Given the description of an element on the screen output the (x, y) to click on. 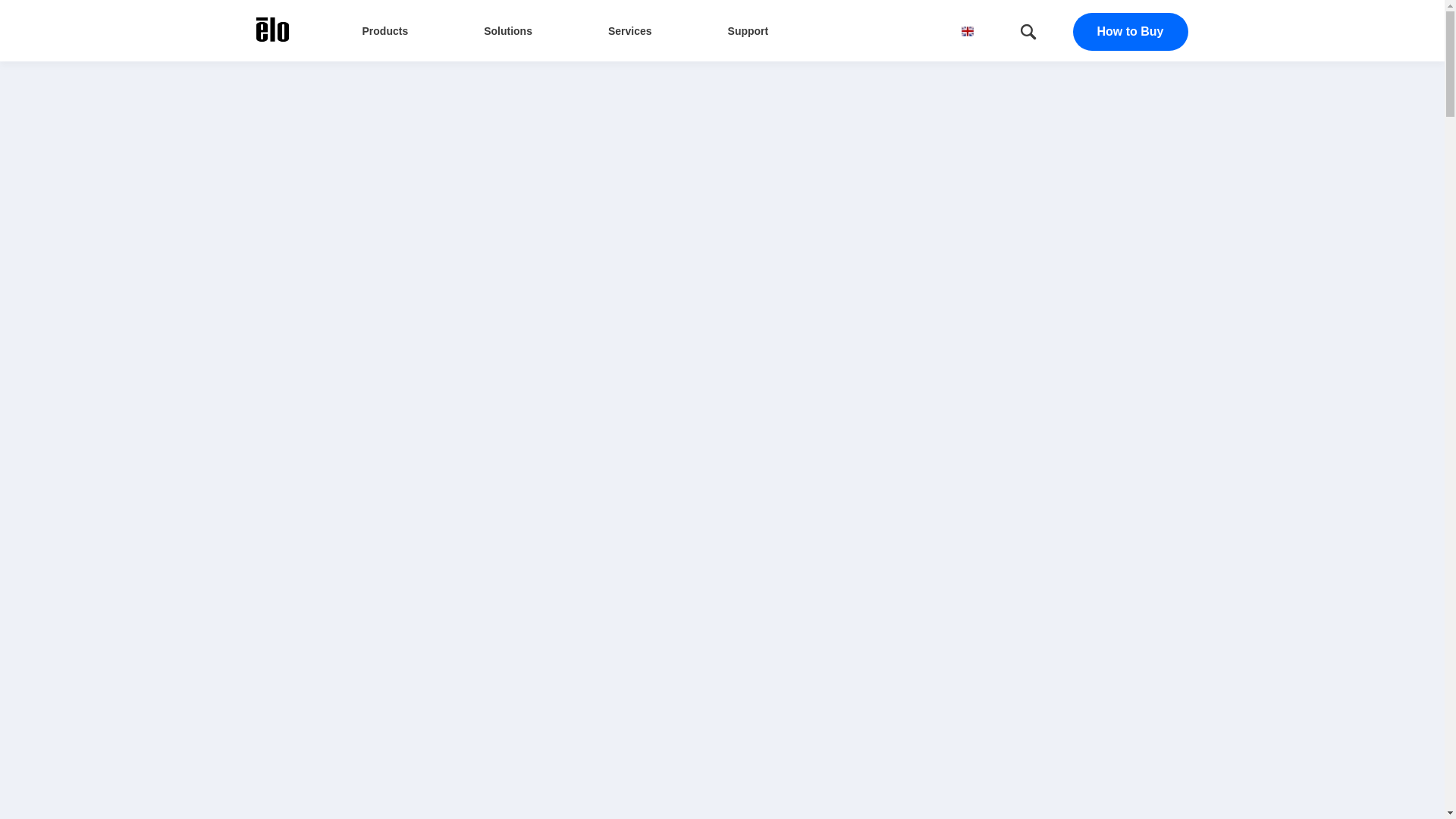
How to Buy (1129, 31)
Solutions (507, 30)
Services (630, 30)
Support (748, 30)
Products (385, 30)
